Given the description of an element on the screen output the (x, y) to click on. 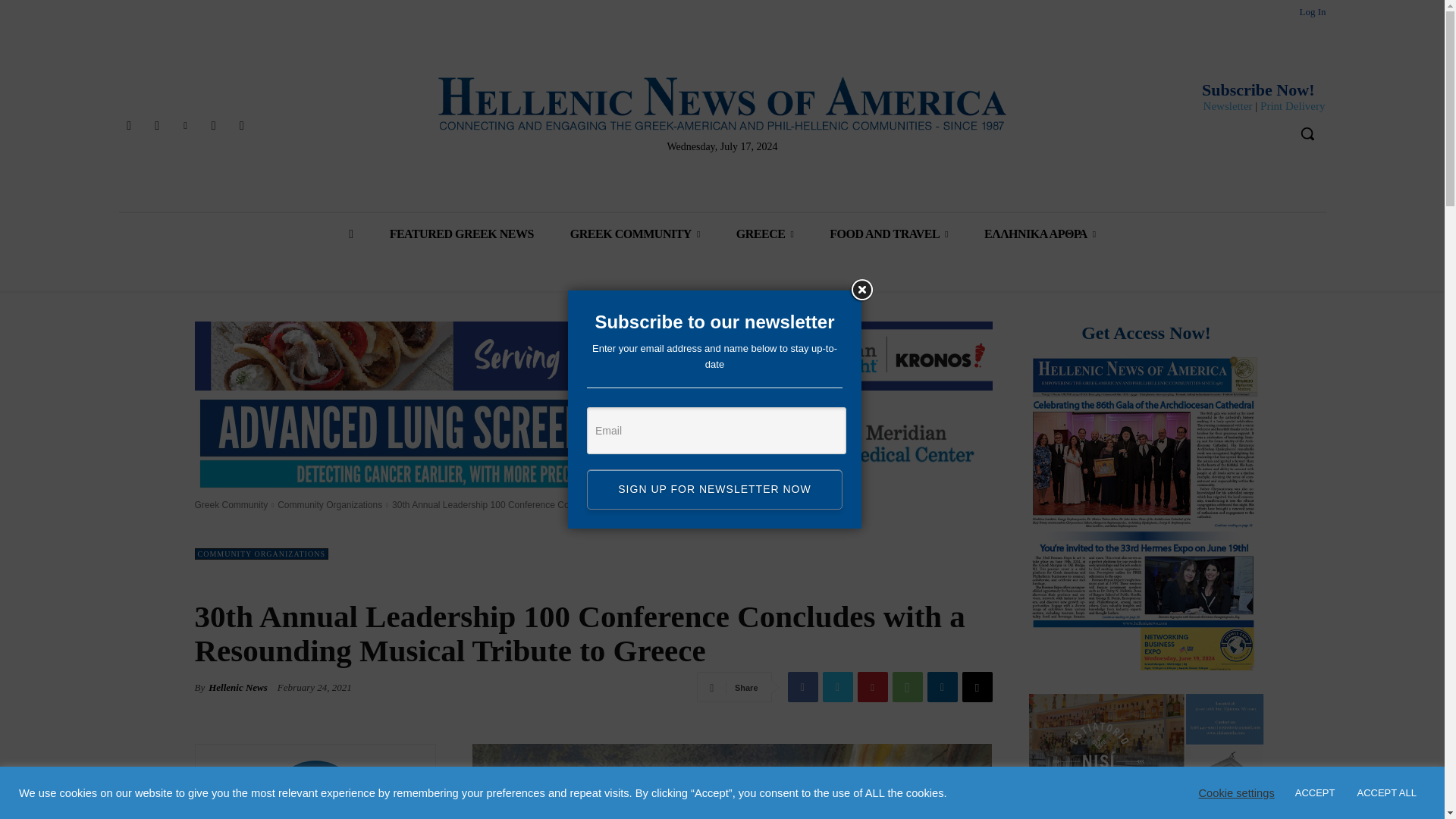
Youtube (241, 125)
Email (715, 430)
Instagram (157, 125)
Twitter (213, 125)
Greek News (722, 103)
Greek News (721, 103)
Linkedin (184, 125)
Facebook (127, 125)
